Given the description of an element on the screen output the (x, y) to click on. 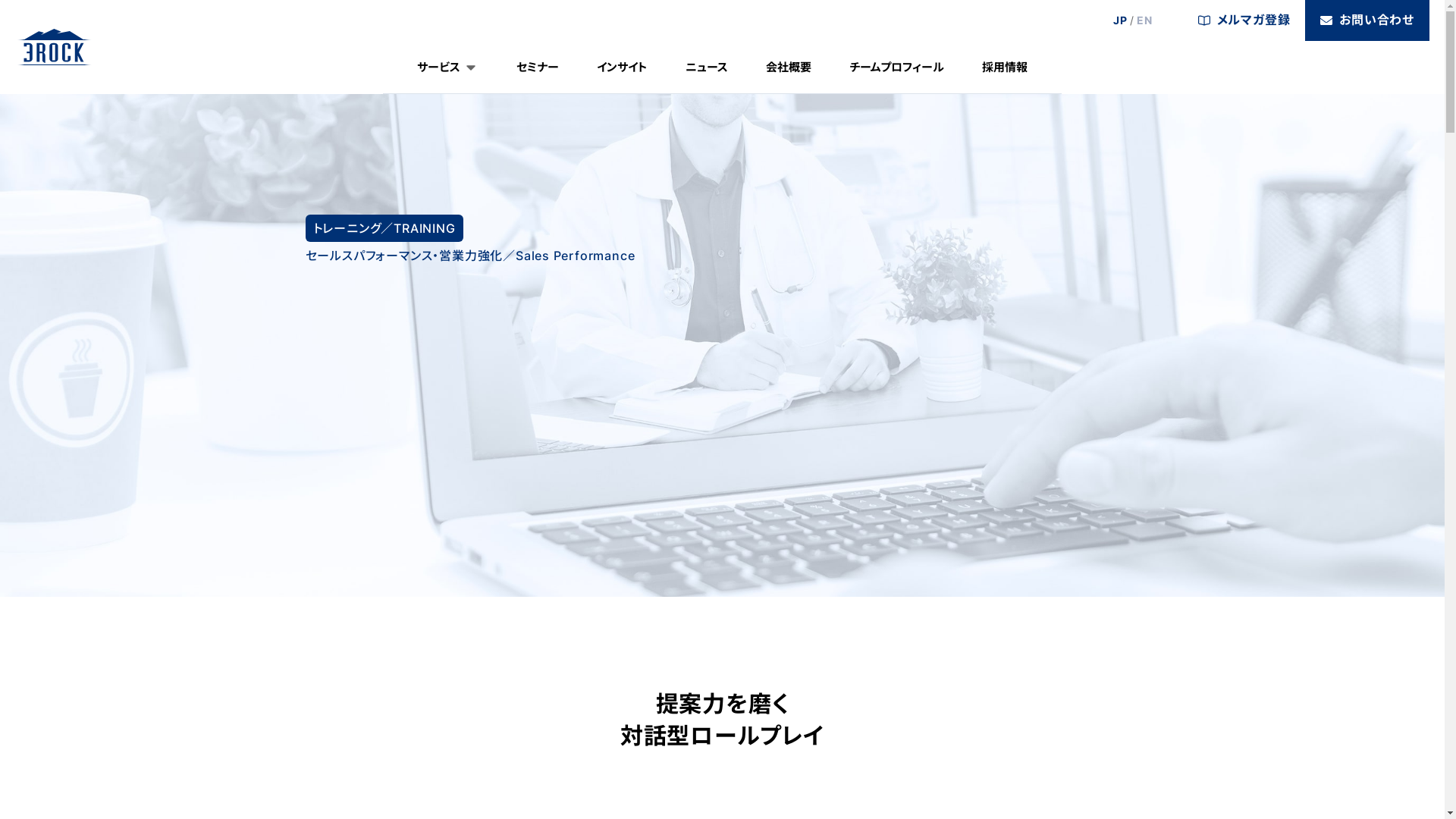
EN Element type: text (1144, 20)
JP Element type: text (1120, 20)
